Given the description of an element on the screen output the (x, y) to click on. 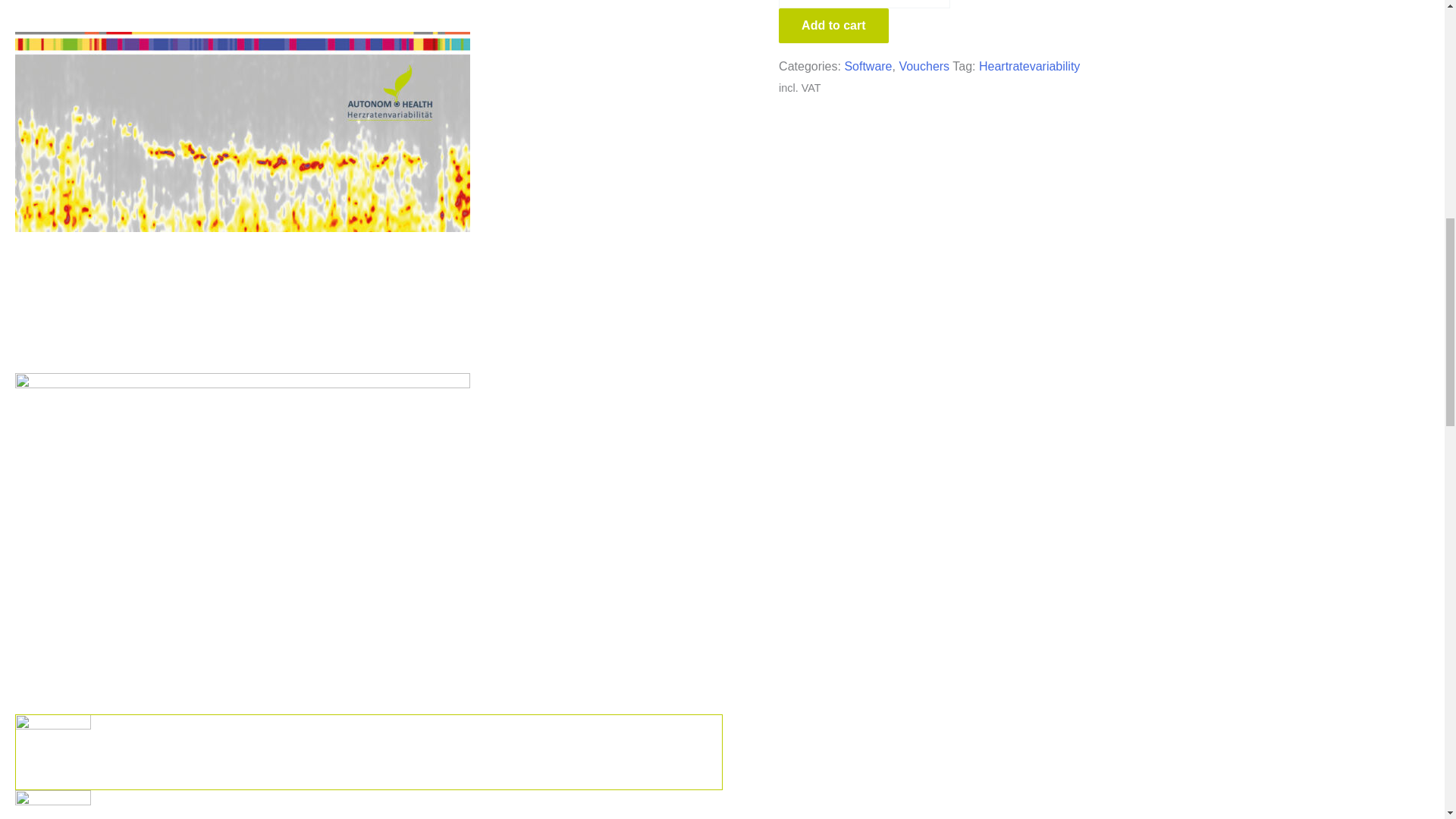
1 (864, 4)
